Given the description of an element on the screen output the (x, y) to click on. 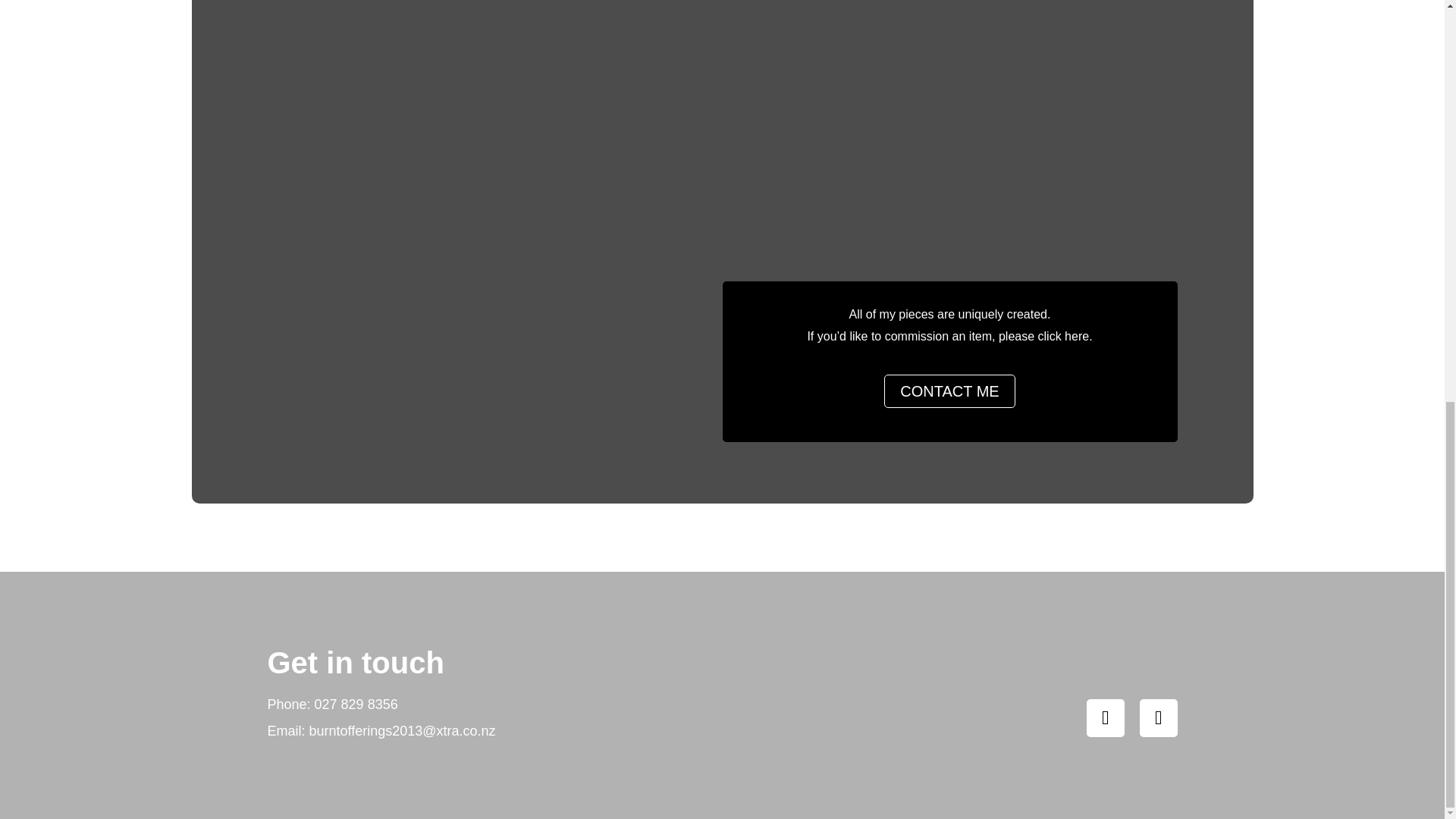
Follow on Instagram (1157, 718)
Follow on Facebook (1105, 718)
CONTACT ME (948, 390)
027 829 8356 (355, 703)
